Given the description of an element on the screen output the (x, y) to click on. 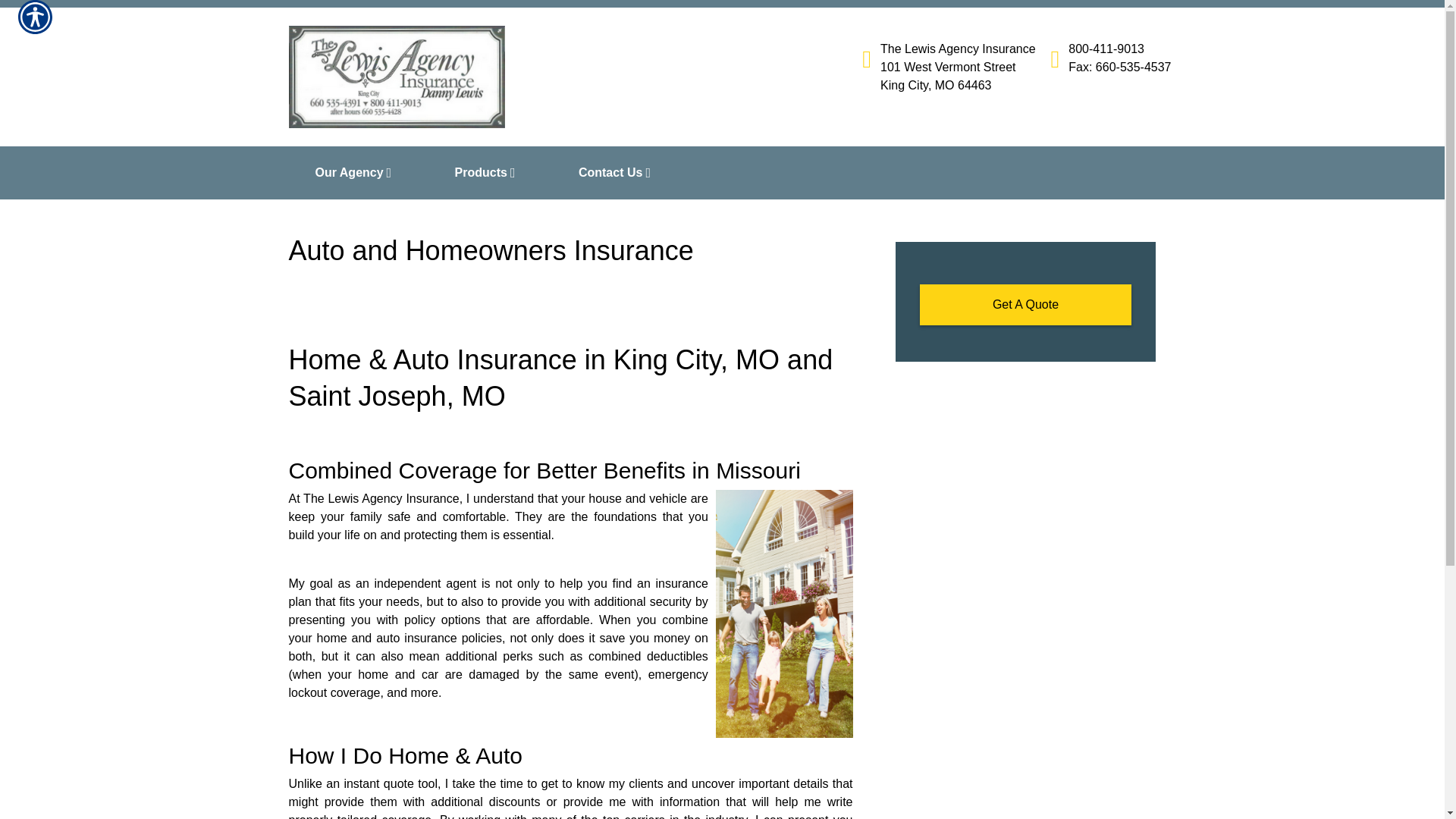
Products (489, 172)
Our Agency (358, 172)
